Given the description of an element on the screen output the (x, y) to click on. 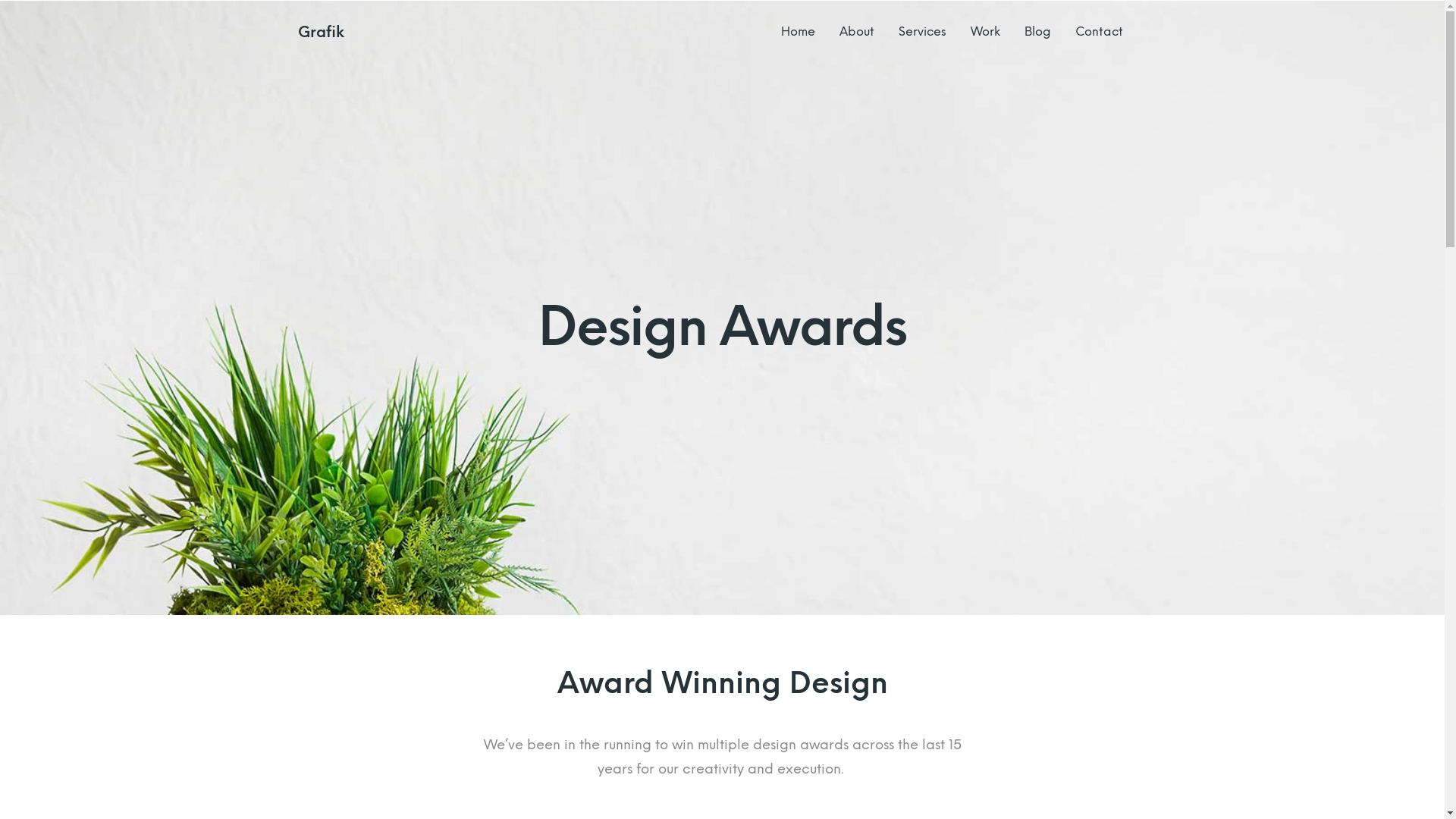
About Element type: text (855, 31)
Home Element type: text (798, 31)
Grafik Element type: text (320, 31)
Work Element type: text (985, 31)
Services Element type: text (921, 31)
Contact Element type: text (1099, 31)
Blog Element type: text (1036, 31)
